Given the description of an element on the screen output the (x, y) to click on. 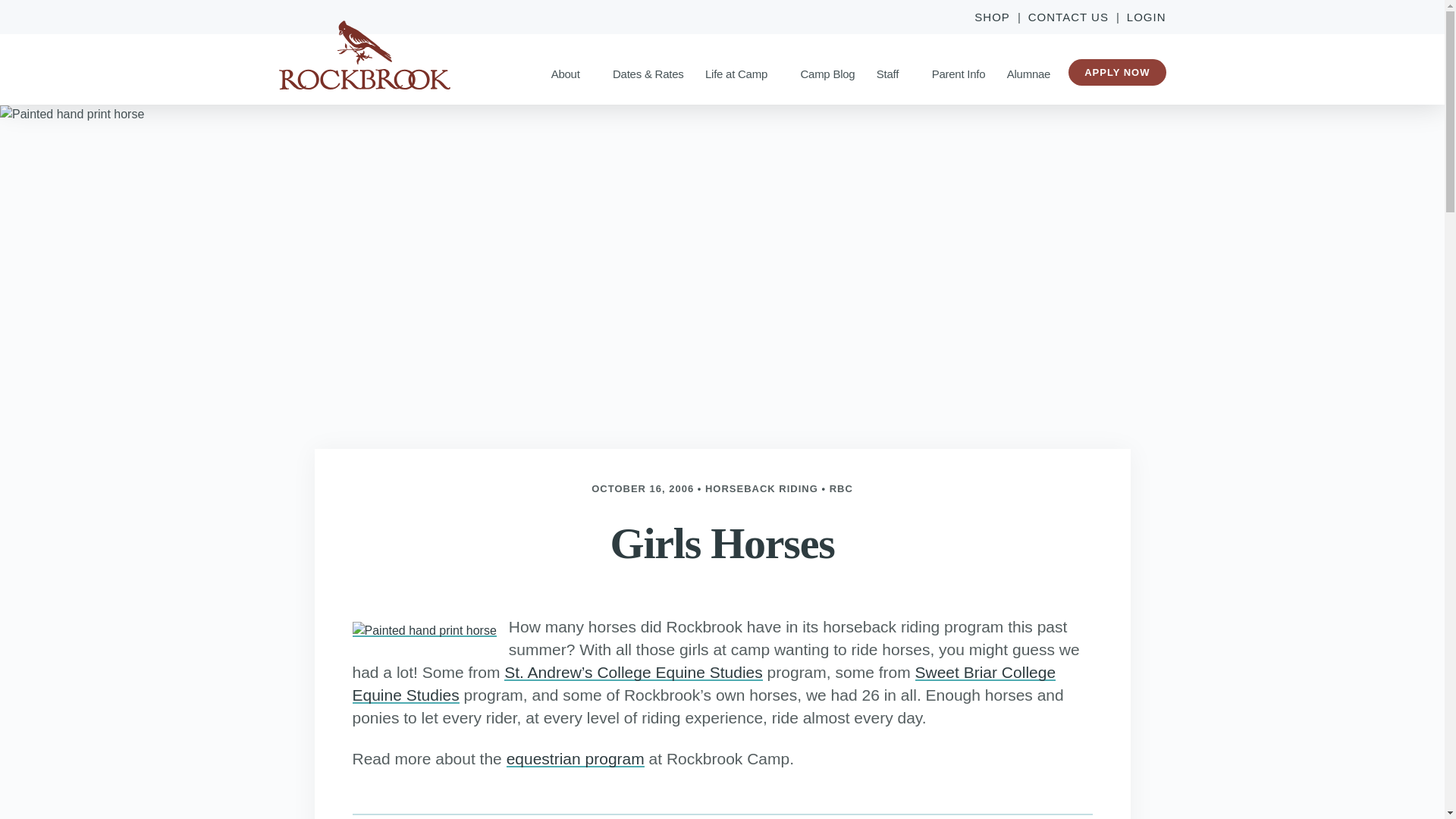
LOGIN (1142, 17)
SHOP (995, 17)
CONTACT US (1068, 17)
About (571, 72)
Life at Camp (741, 72)
